Given the description of an element on the screen output the (x, y) to click on. 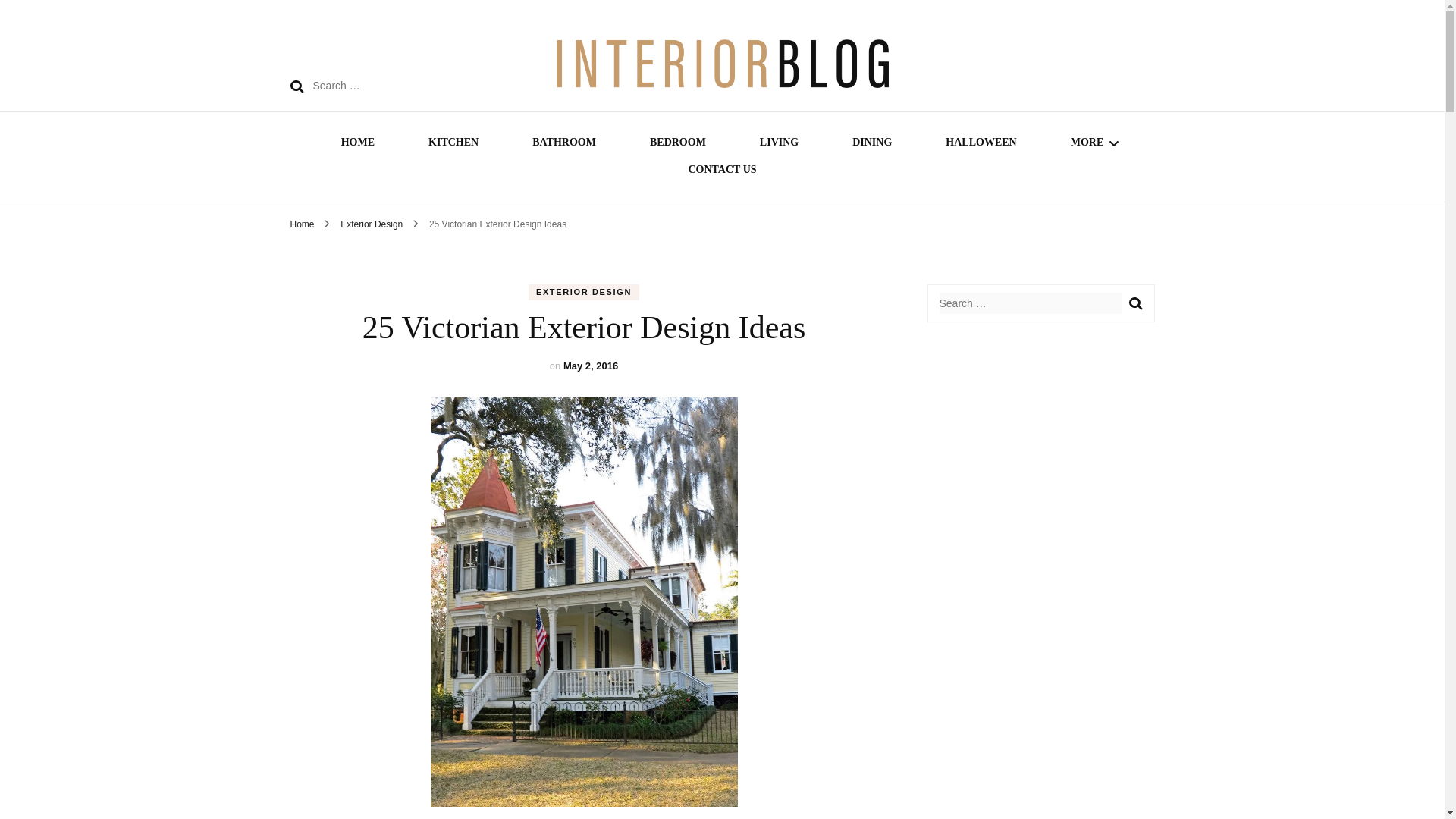
BEDROOM (677, 144)
Search (1134, 303)
Search (295, 86)
Decoration Love (863, 139)
May 2, 2016 (590, 365)
Search (295, 86)
Search (1134, 303)
EXTERIOR DESIGN (583, 292)
DINING (871, 144)
HOME (357, 144)
HALLOWEEN (980, 144)
Home (301, 224)
KITCHEN (453, 144)
Exterior Design (372, 224)
BATHROOM (563, 144)
